Given the description of an element on the screen output the (x, y) to click on. 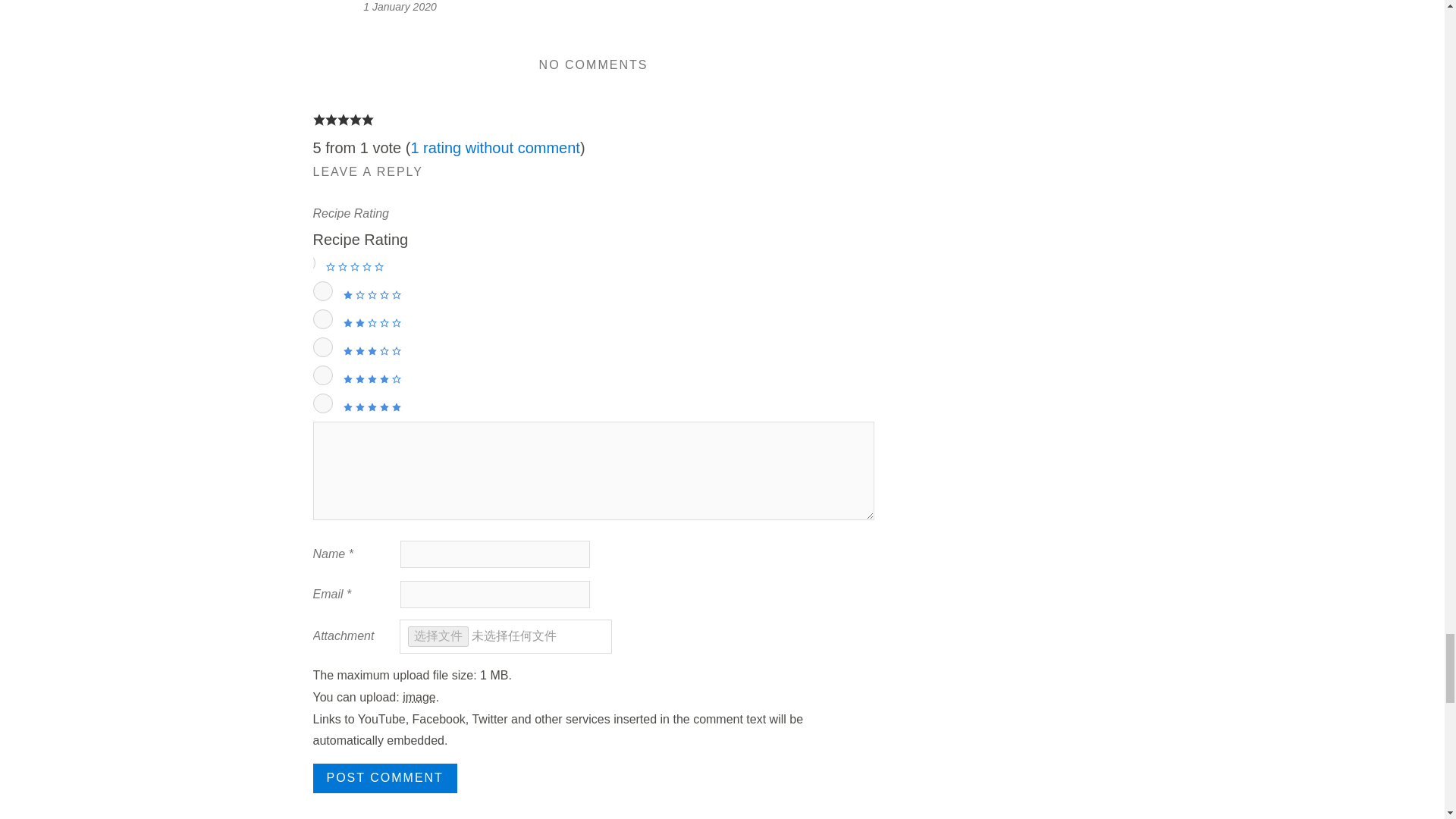
3 (322, 347)
5 (322, 403)
2 (322, 319)
jpg, jpeg, png (419, 697)
0 (305, 262)
Post Comment (385, 778)
4 (322, 374)
1 (322, 291)
